Given the description of an element on the screen output the (x, y) to click on. 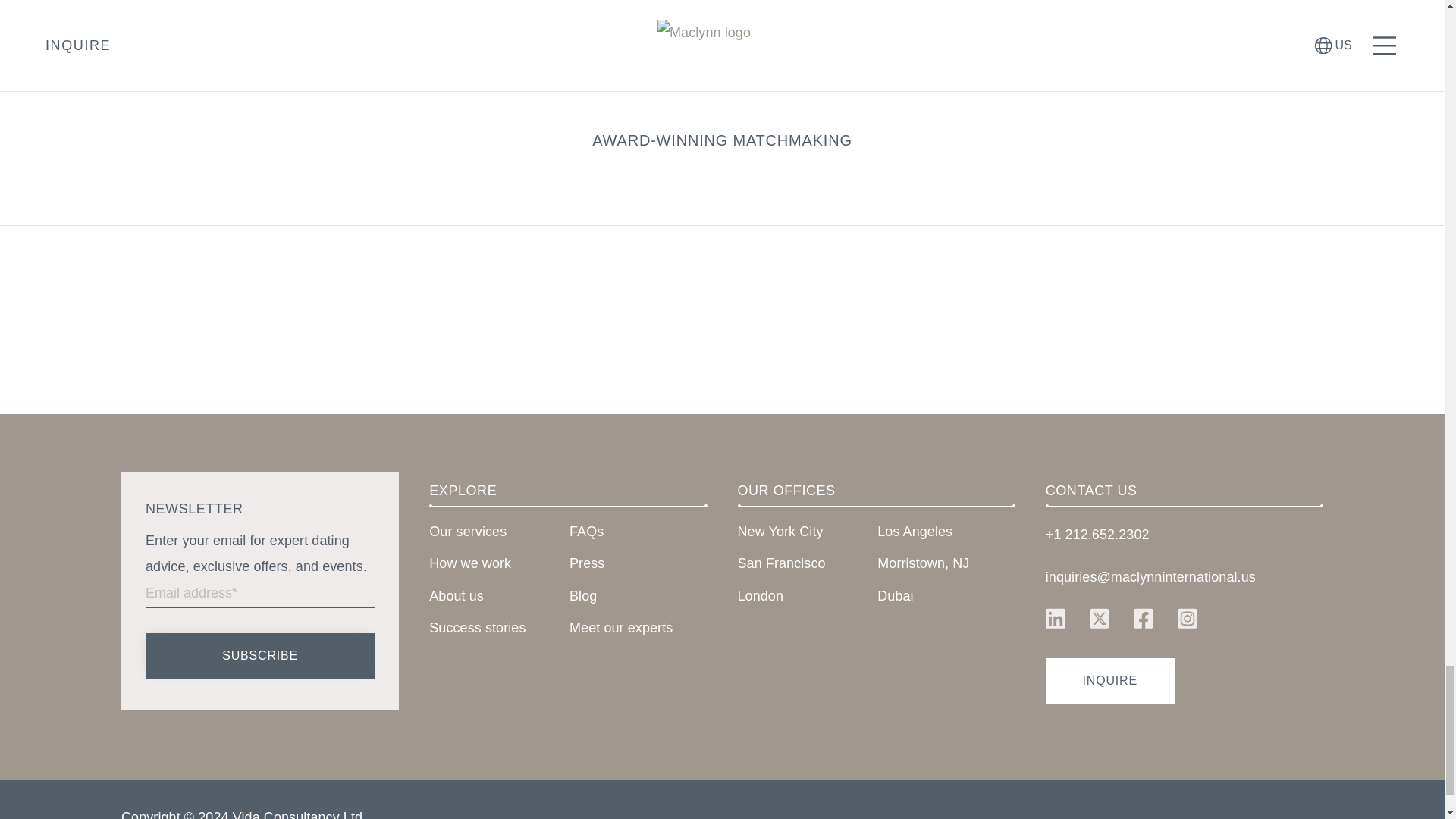
Find Maclynn on LinkedIn (1055, 617)
Find Maclynn on X (1099, 617)
Find Maclynn on Instagram (1188, 617)
Find Maclynn on Facebook (1142, 617)
